Given the description of an element on the screen output the (x, y) to click on. 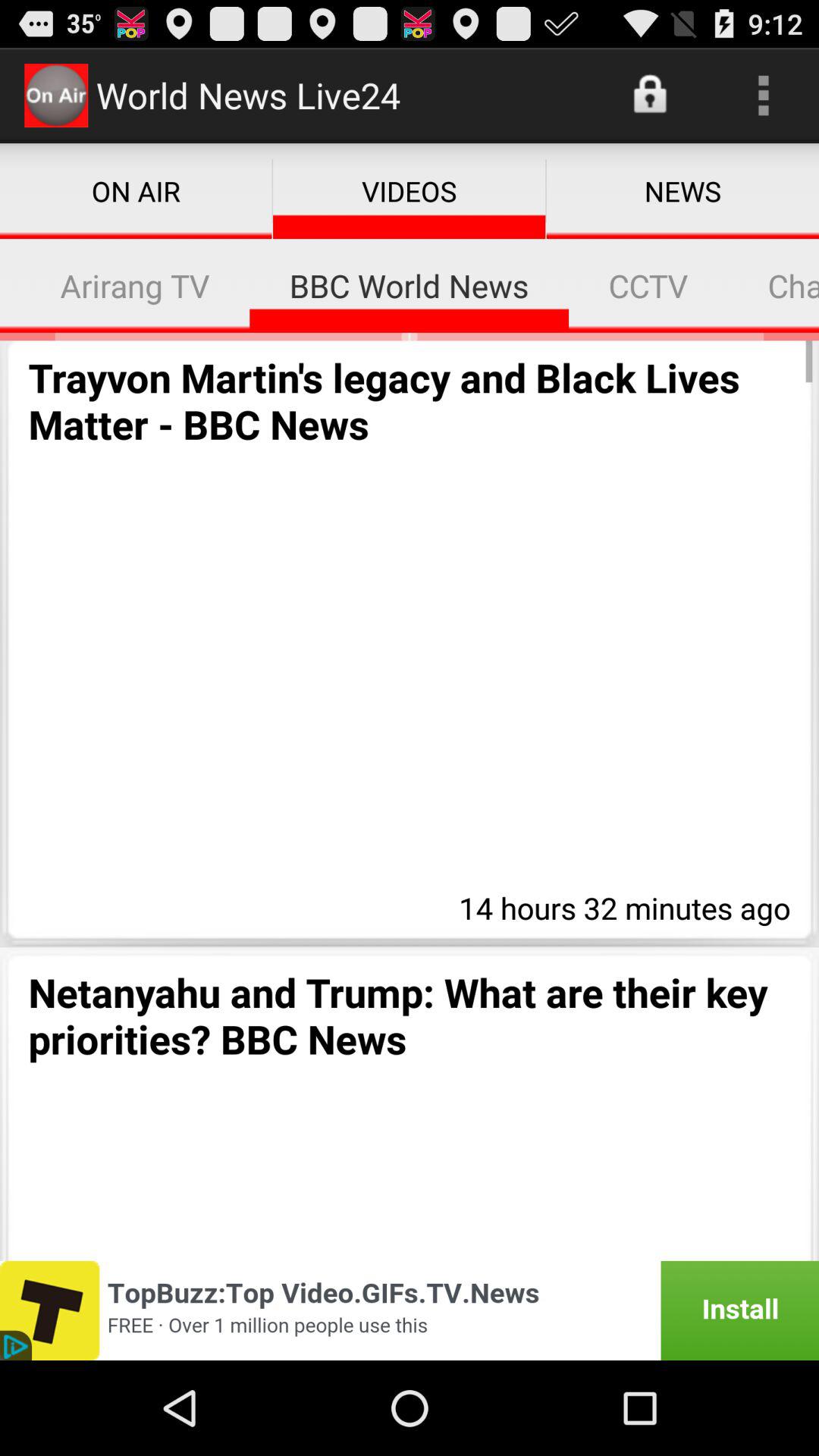
press the app above news app (651, 95)
